Given the description of an element on the screen output the (x, y) to click on. 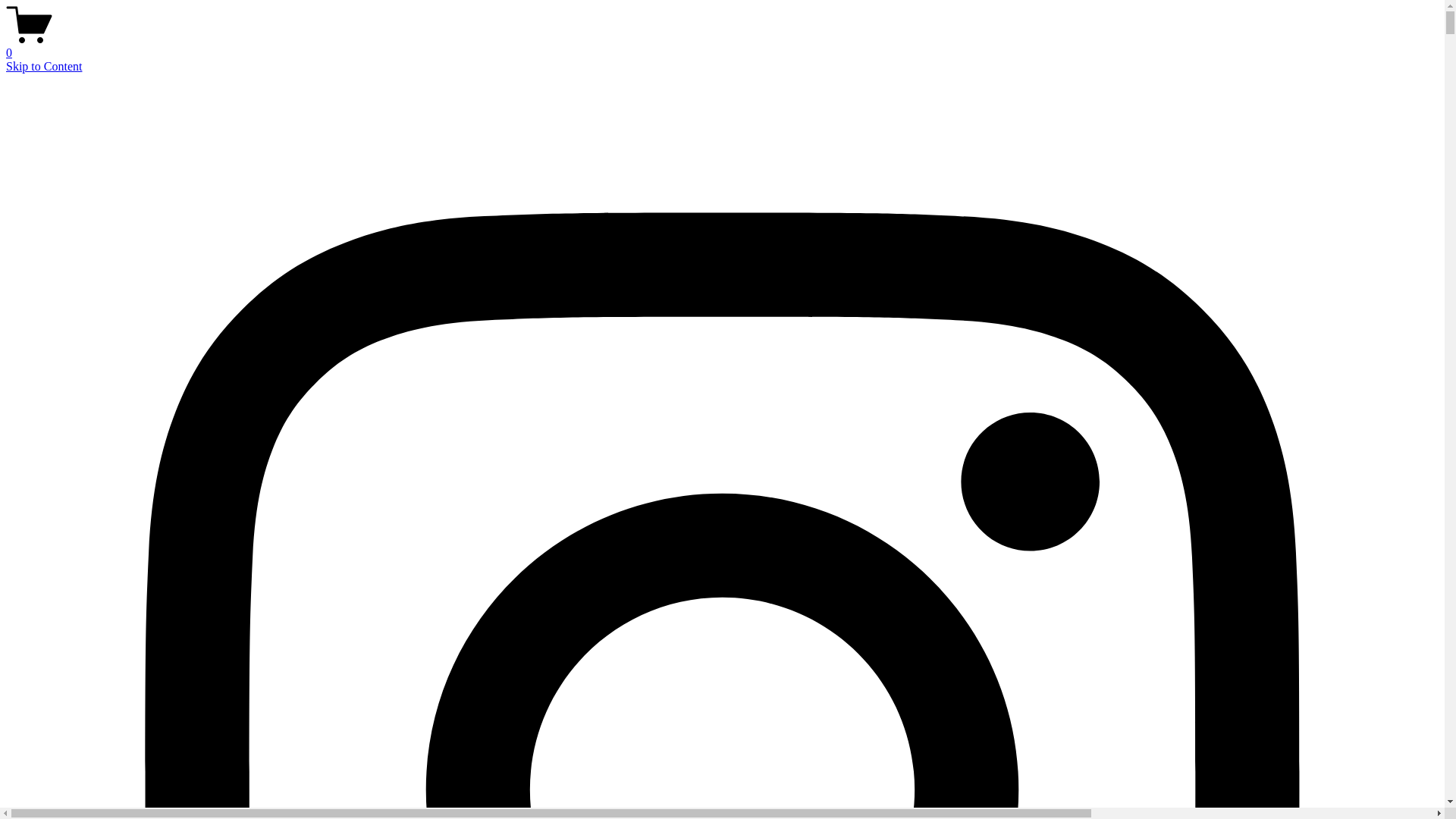
0 Element type: text (722, 45)
Skip to Content Element type: text (43, 65)
